Given the description of an element on the screen output the (x, y) to click on. 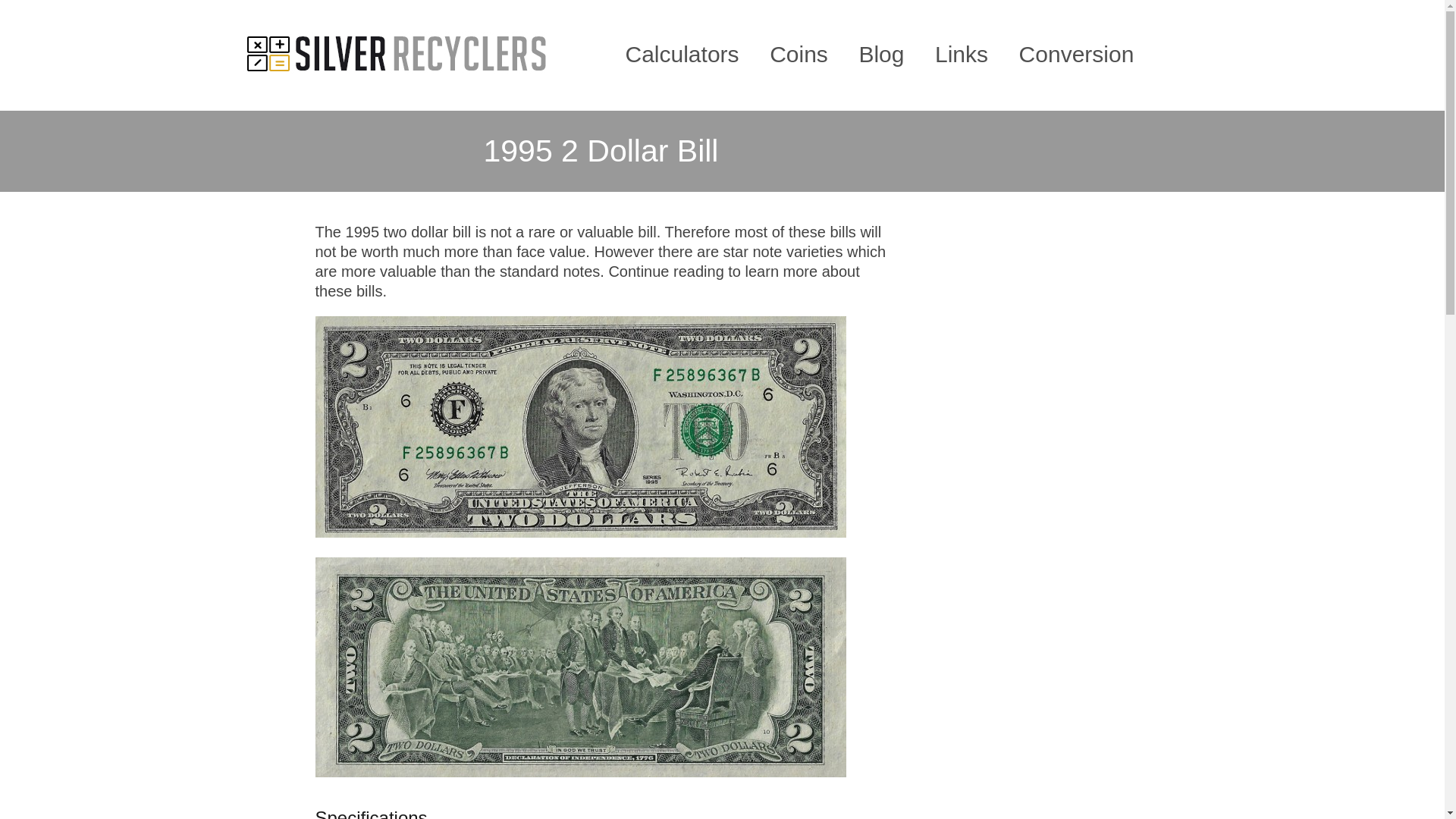
Conversion (1076, 54)
Calculators (681, 54)
Links (961, 54)
Blog (881, 54)
Coins (799, 54)
